Given the description of an element on the screen output the (x, y) to click on. 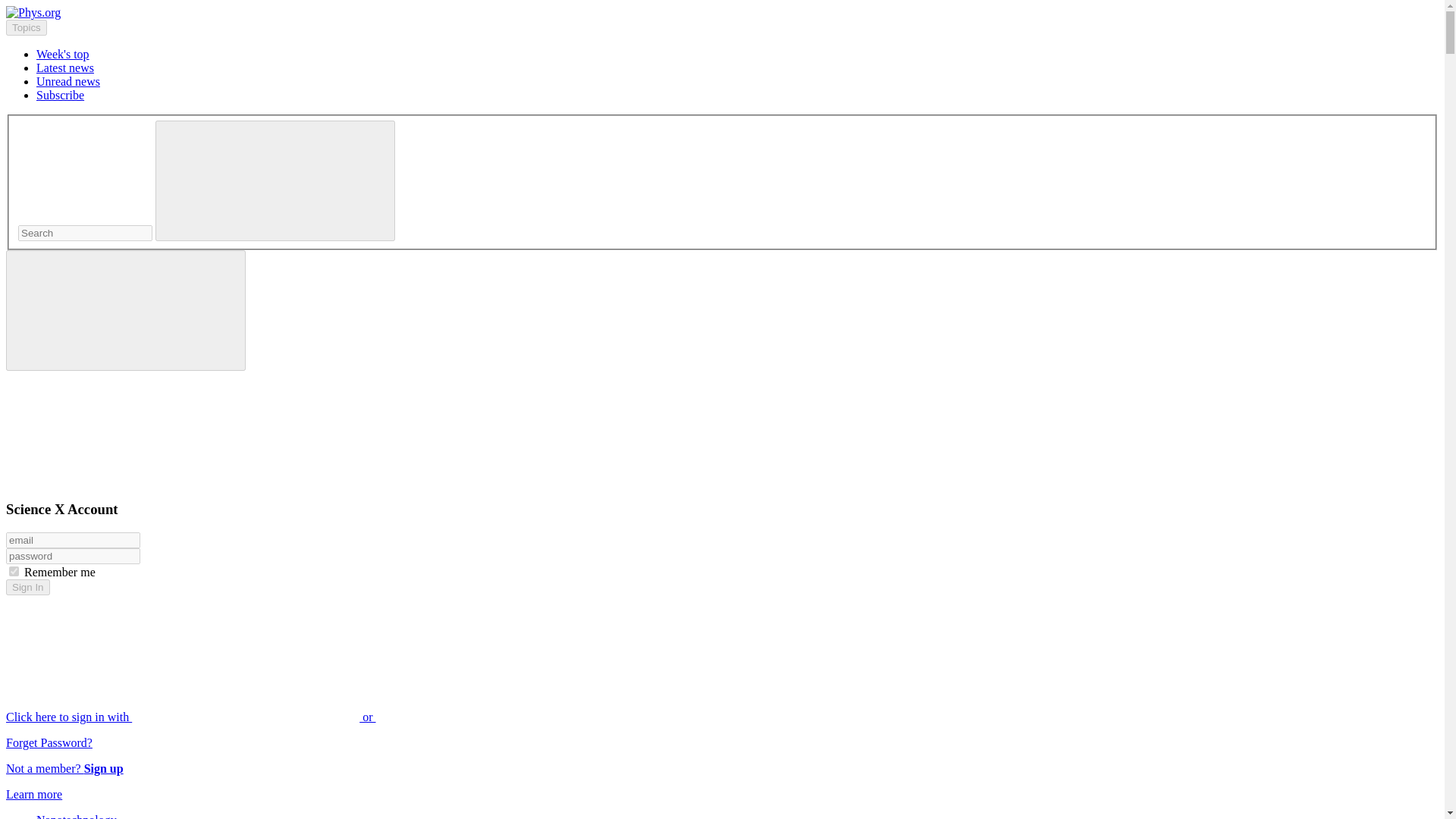
Latest news (65, 67)
Not a member? Sign up (64, 768)
Nanotechnology (76, 816)
on (13, 571)
Unread news (68, 81)
Subscribe (60, 94)
Sign In (27, 587)
Week's top (62, 53)
Learn more (33, 793)
Forget Password? (49, 742)
Click here to sign in with or (304, 716)
Topics (25, 27)
